Given the description of an element on the screen output the (x, y) to click on. 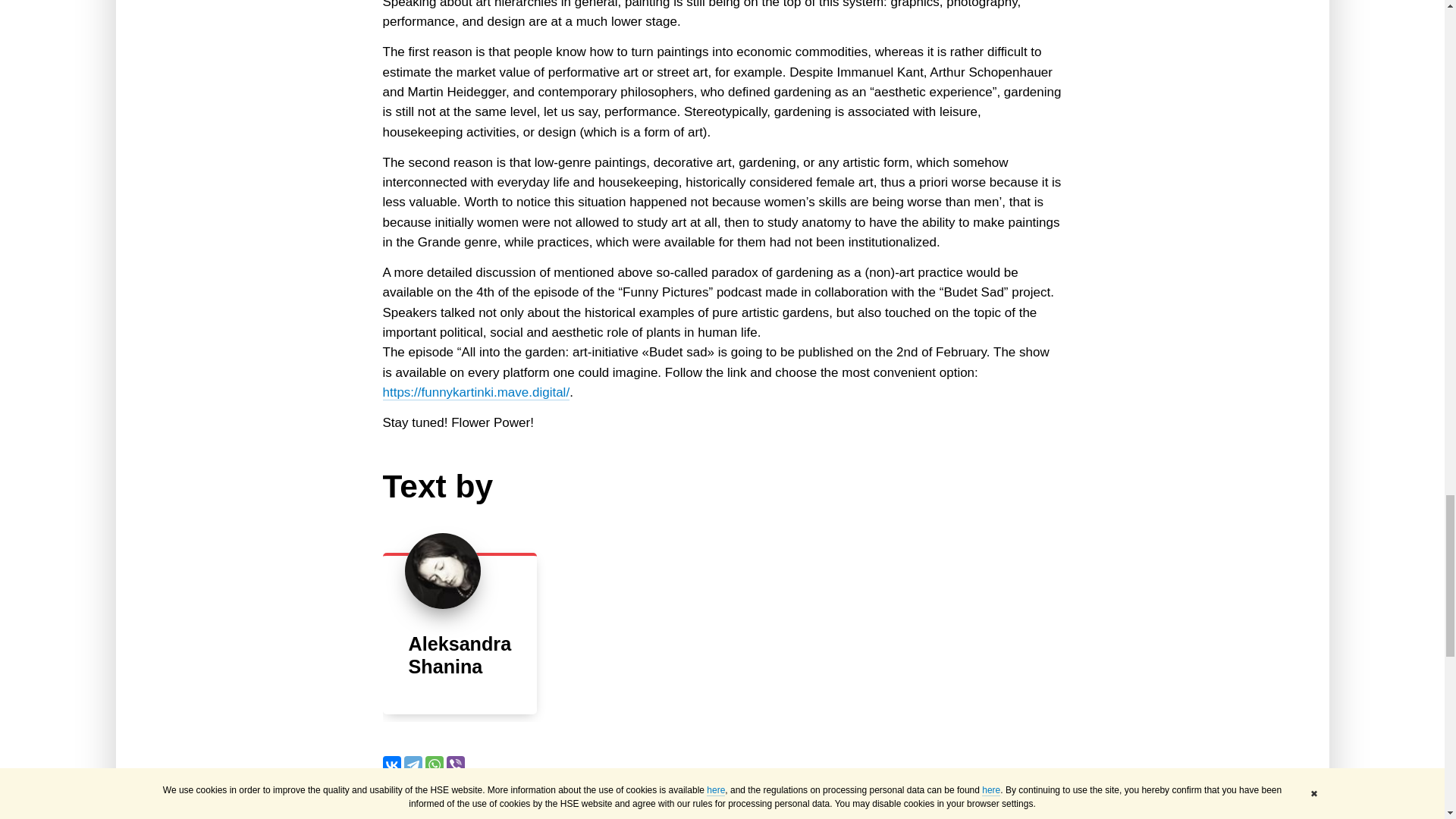
Viber (454, 764)
WhatsApp (433, 764)
VKontakte (390, 764)
Telegram (412, 764)
